Given the description of an element on the screen output the (x, y) to click on. 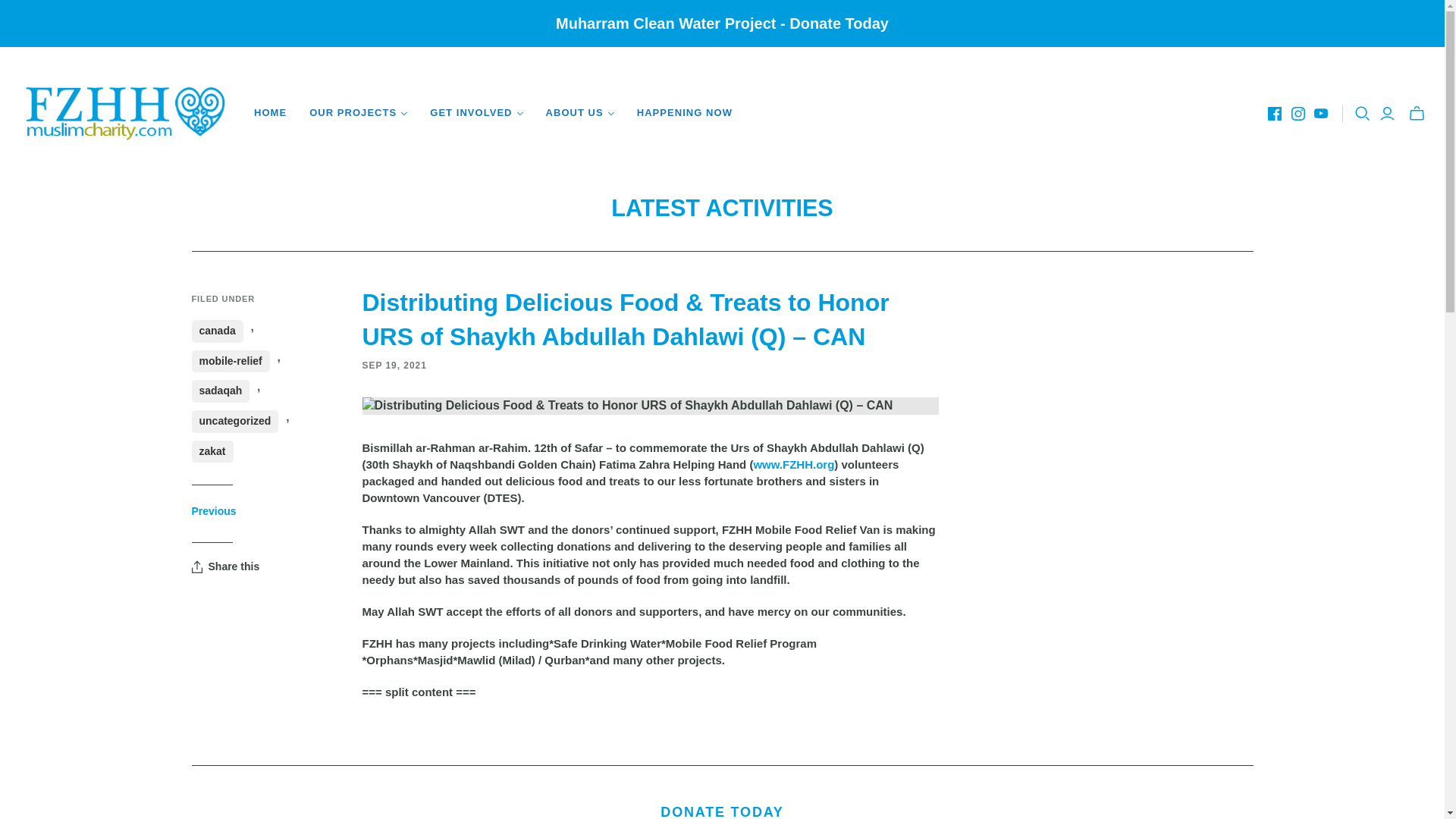
Toggle mini cart (1417, 112)
HAPPENING NOW (685, 113)
HOME (270, 113)
